Given the description of an element on the screen output the (x, y) to click on. 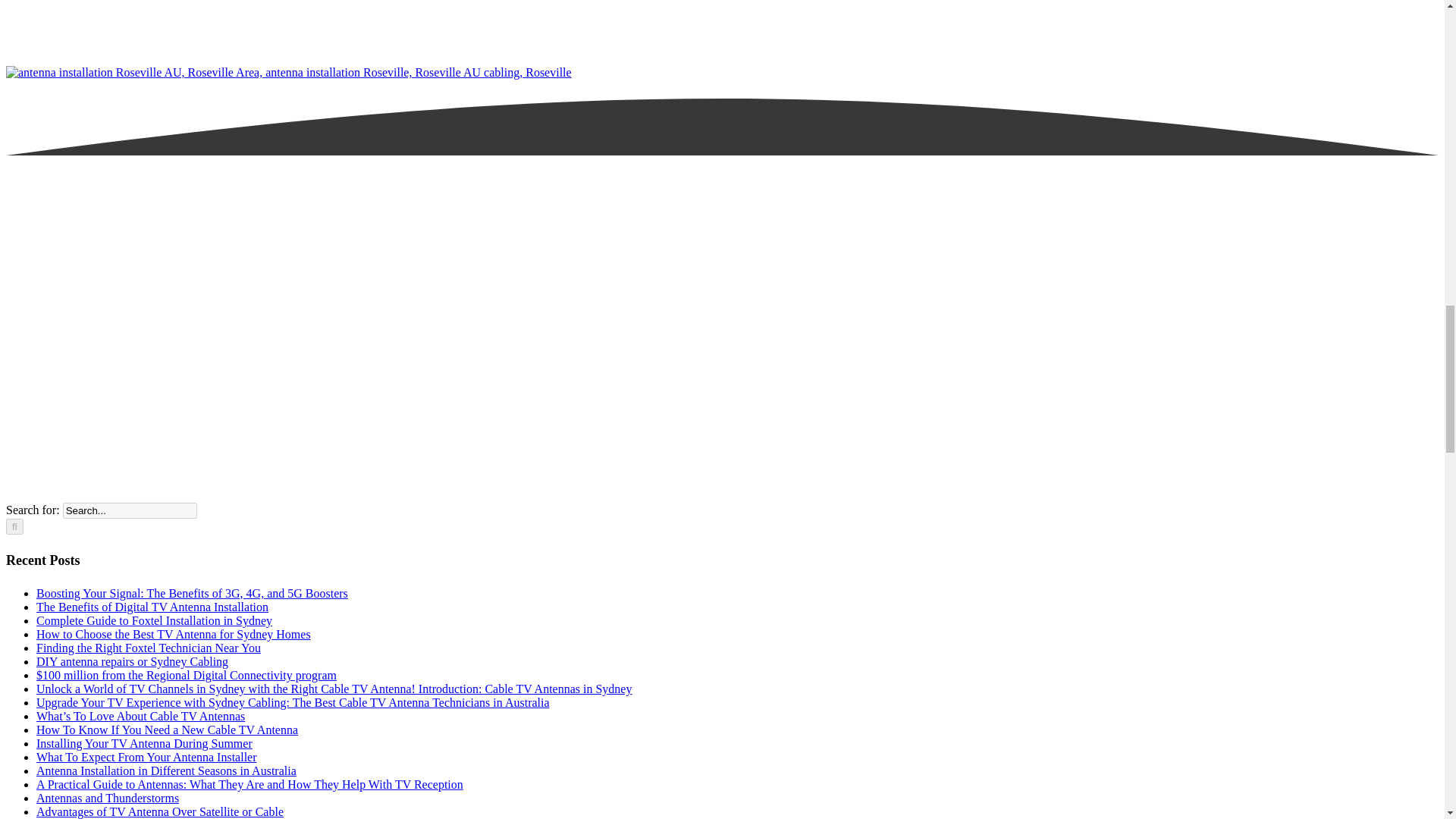
Finding the Right Foxtel Technician Near You (148, 647)
Complete Guide to Foxtel Installation in Sydney (154, 620)
The Benefits of Digital TV Antenna Installation (151, 606)
How to Choose the Best TV Antenna for Sydney Homes (173, 634)
Roseville AU (288, 72)
